Given the description of an element on the screen output the (x, y) to click on. 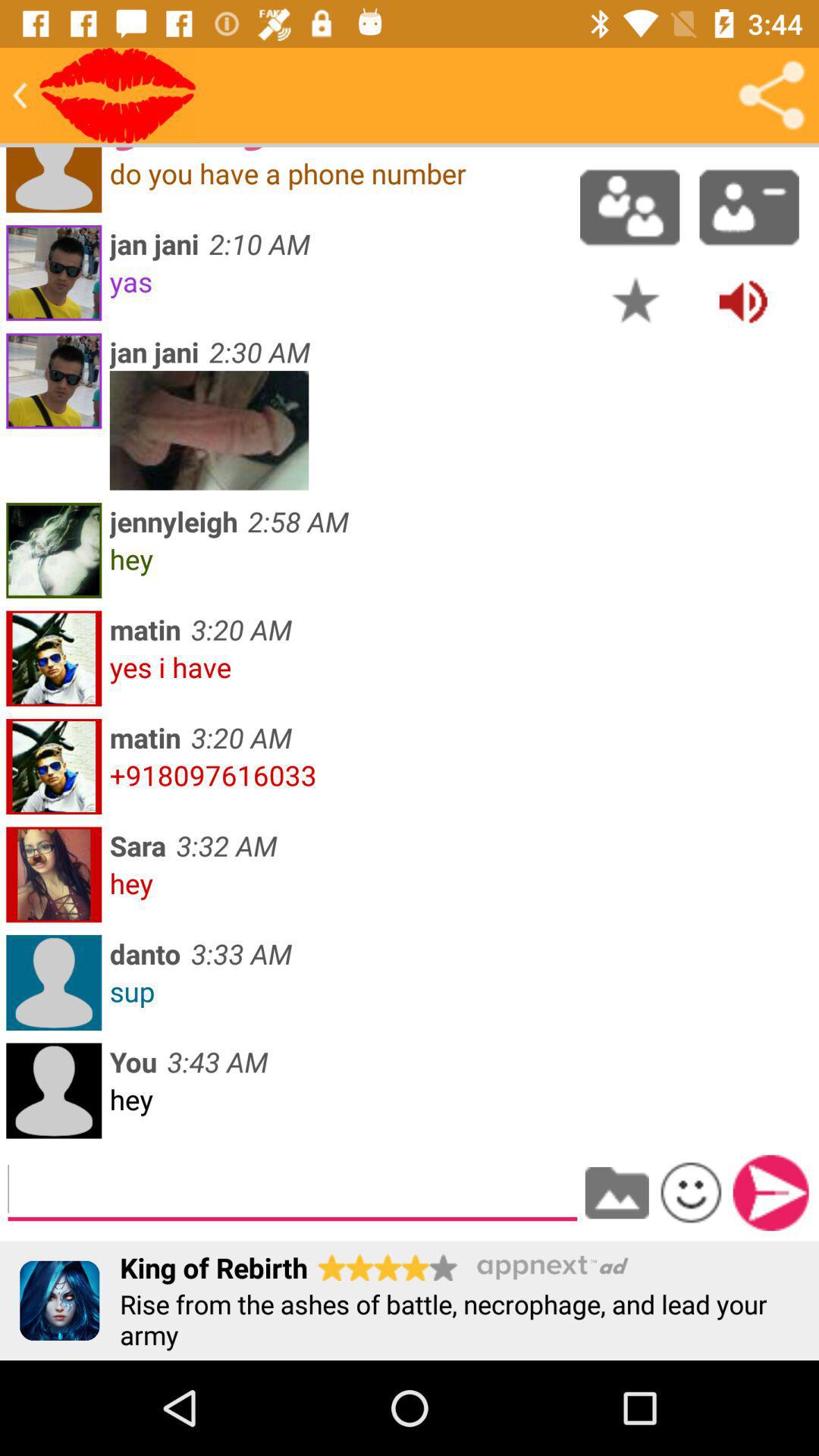
fullsize photo (208, 430)
